Given the description of an element on the screen output the (x, y) to click on. 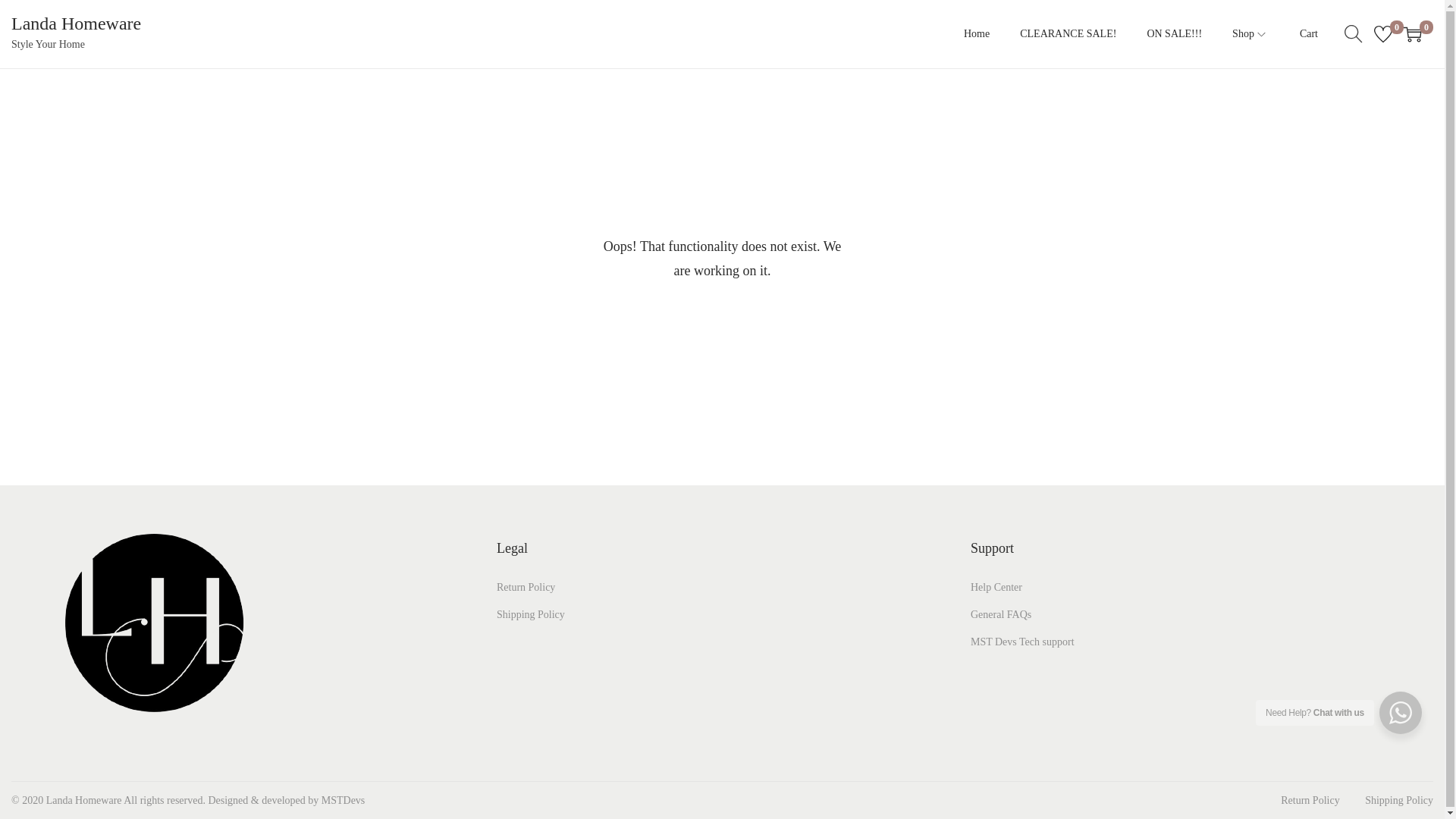
MST Devs Tech support (1022, 641)
MSTDevs (343, 799)
General FAQs (1000, 614)
Help Center (996, 586)
0 (1382, 34)
CLEARANCE SALE! (1068, 33)
Landa Homeware (76, 23)
Shipping Policy (1398, 799)
Return Policy (1310, 799)
Shipping Policy (530, 614)
Return Policy (525, 586)
0 (1412, 34)
